Given the description of an element on the screen output the (x, y) to click on. 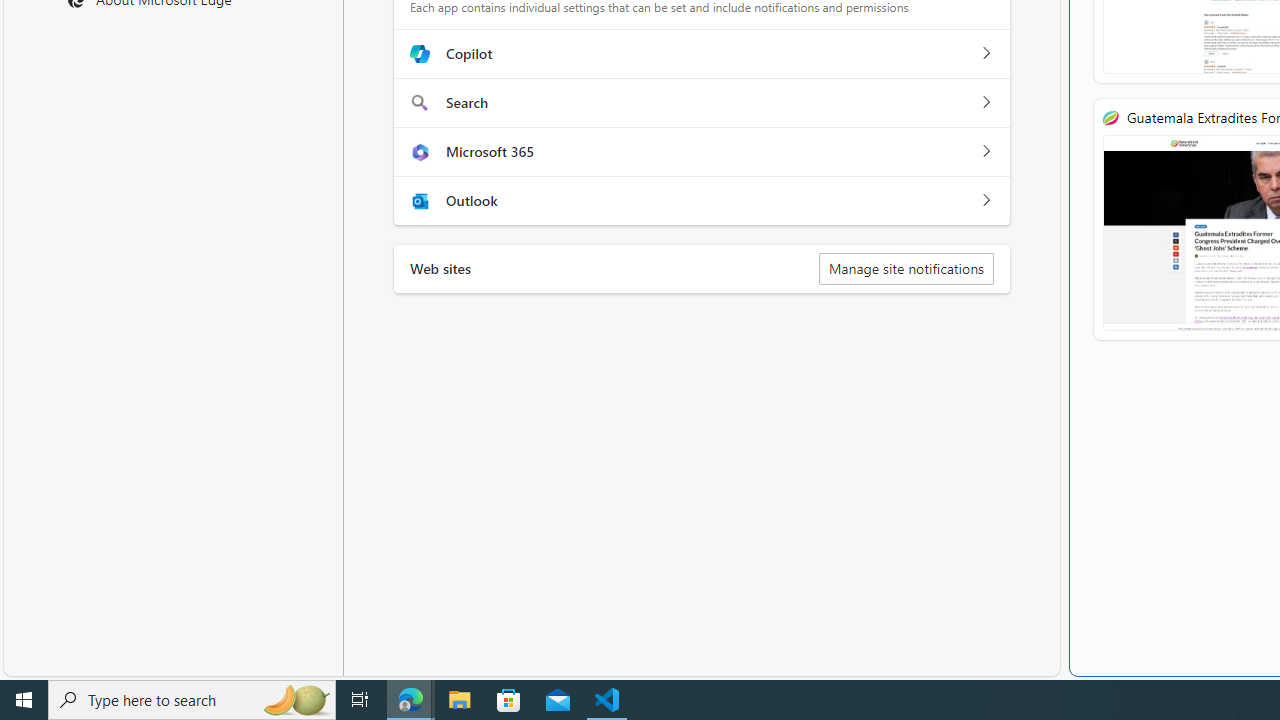
Outlook (985, 200)
Microsoft 365 (985, 151)
Manage site notifications (905, 268)
Copilot (985, 54)
Search (985, 102)
